Given the description of an element on the screen output the (x, y) to click on. 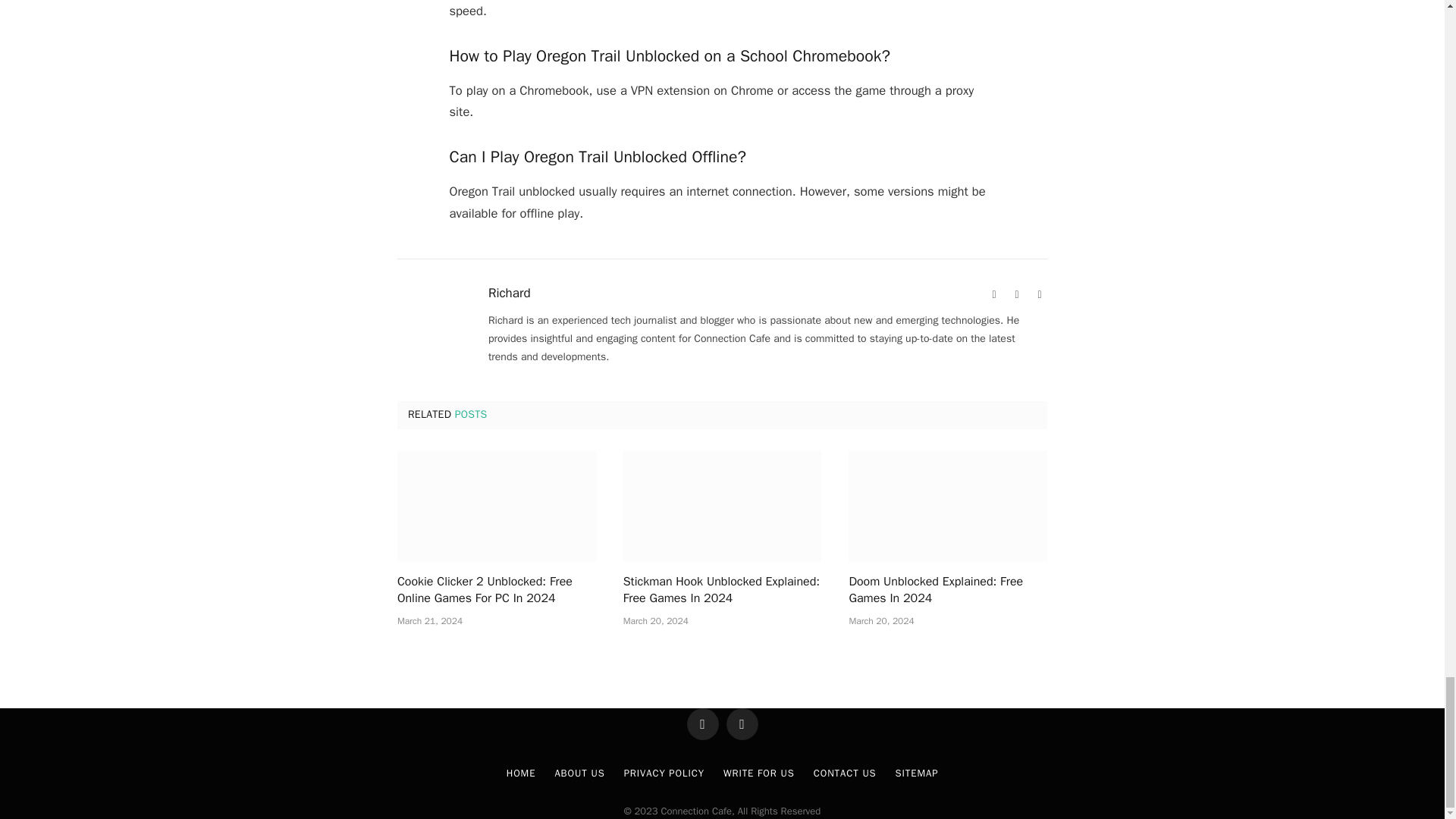
Website (994, 294)
Posts by Richard (509, 293)
Twitter (1039, 294)
Facebook (1017, 294)
Cookie Clicker 2 Unblocked: Free Online Games For PC In 2024 (496, 505)
Doom Unblocked Explained: Free Games In 2024 (947, 505)
Stickman Hook Unblocked Explained: Free Games In 2024 (722, 505)
